Given the description of an element on the screen output the (x, y) to click on. 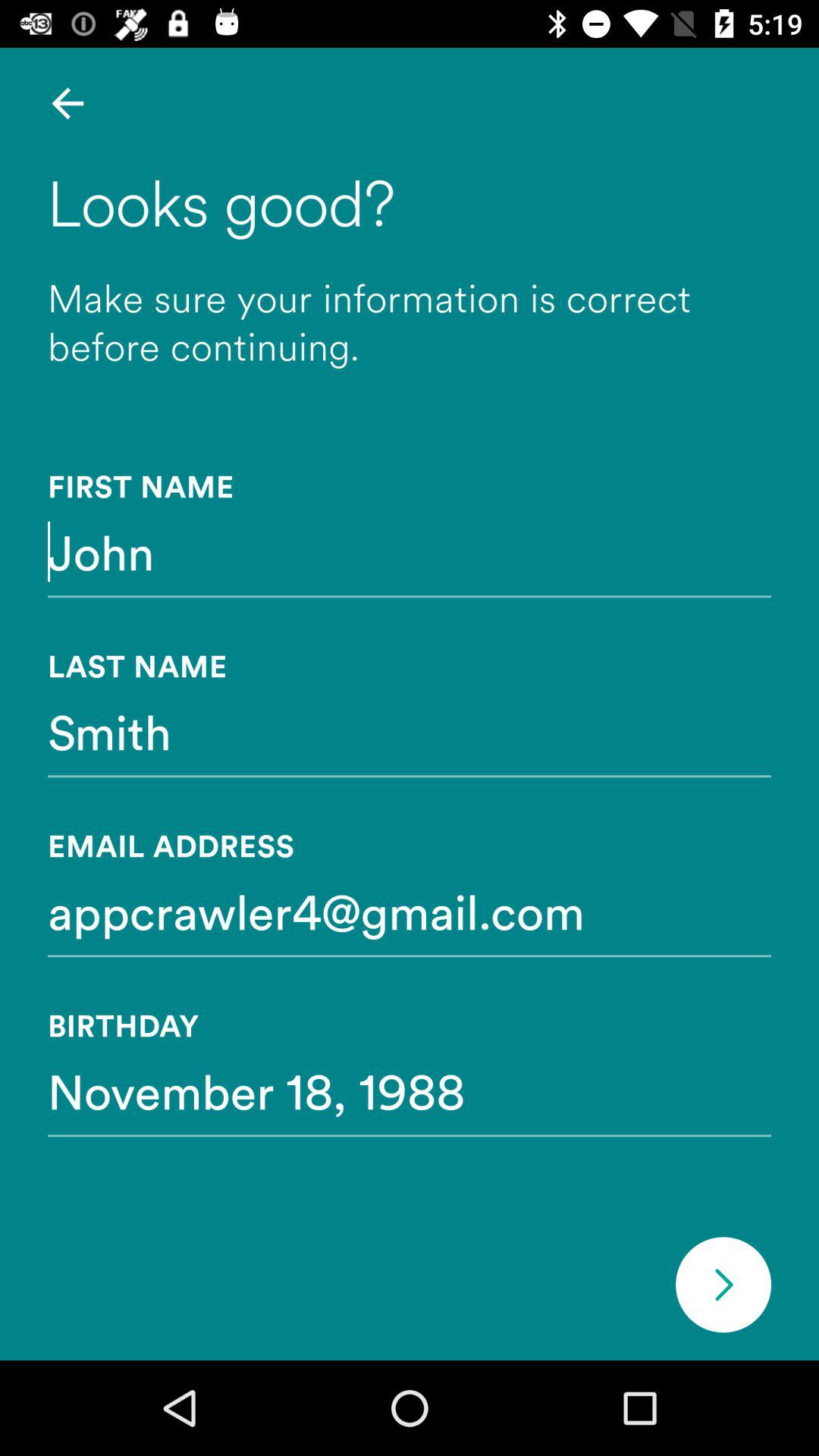
choose november 18, 1988 icon (409, 1090)
